Given the description of an element on the screen output the (x, y) to click on. 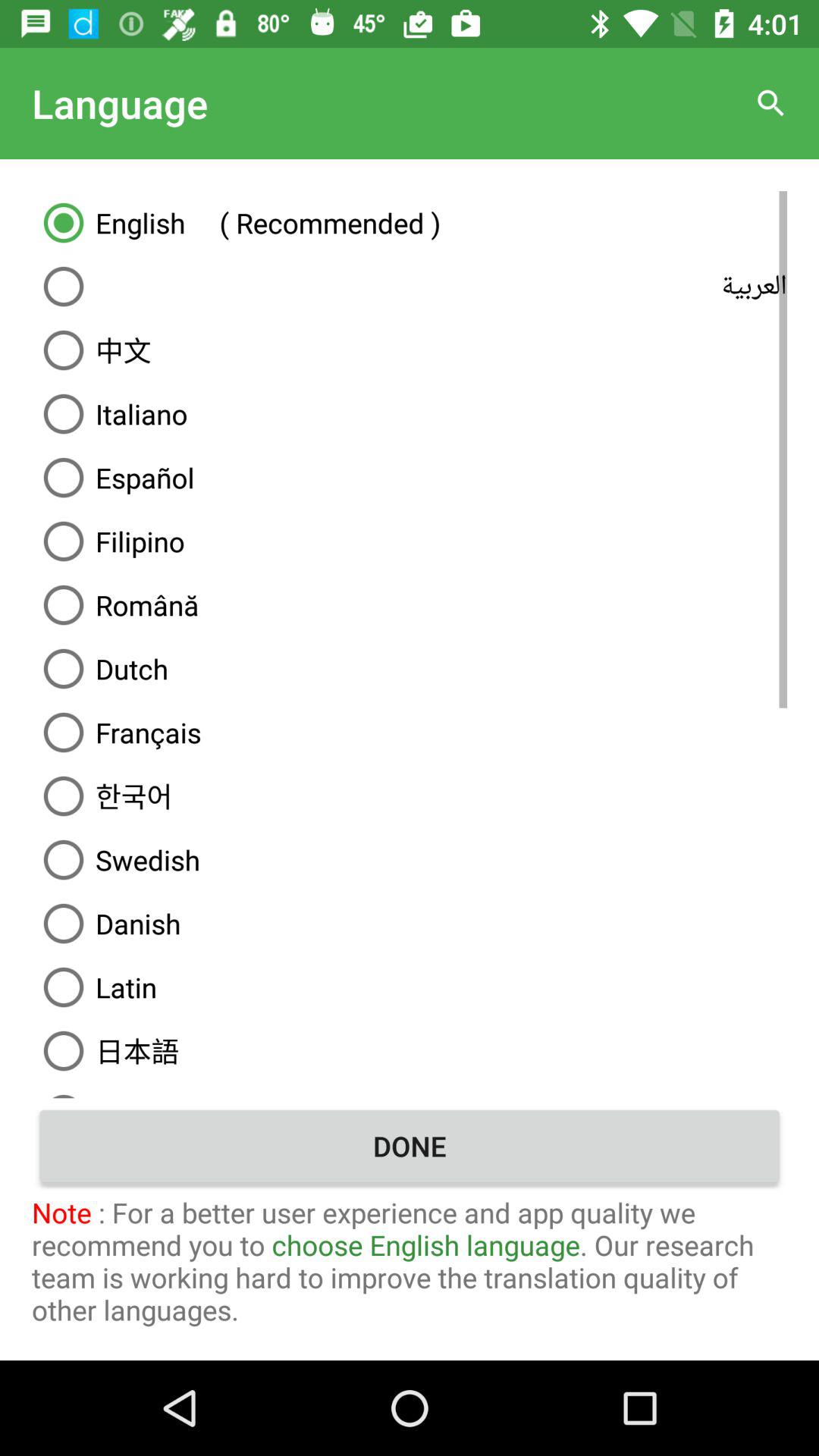
turn on the item below latin icon (409, 1050)
